Given the description of an element on the screen output the (x, y) to click on. 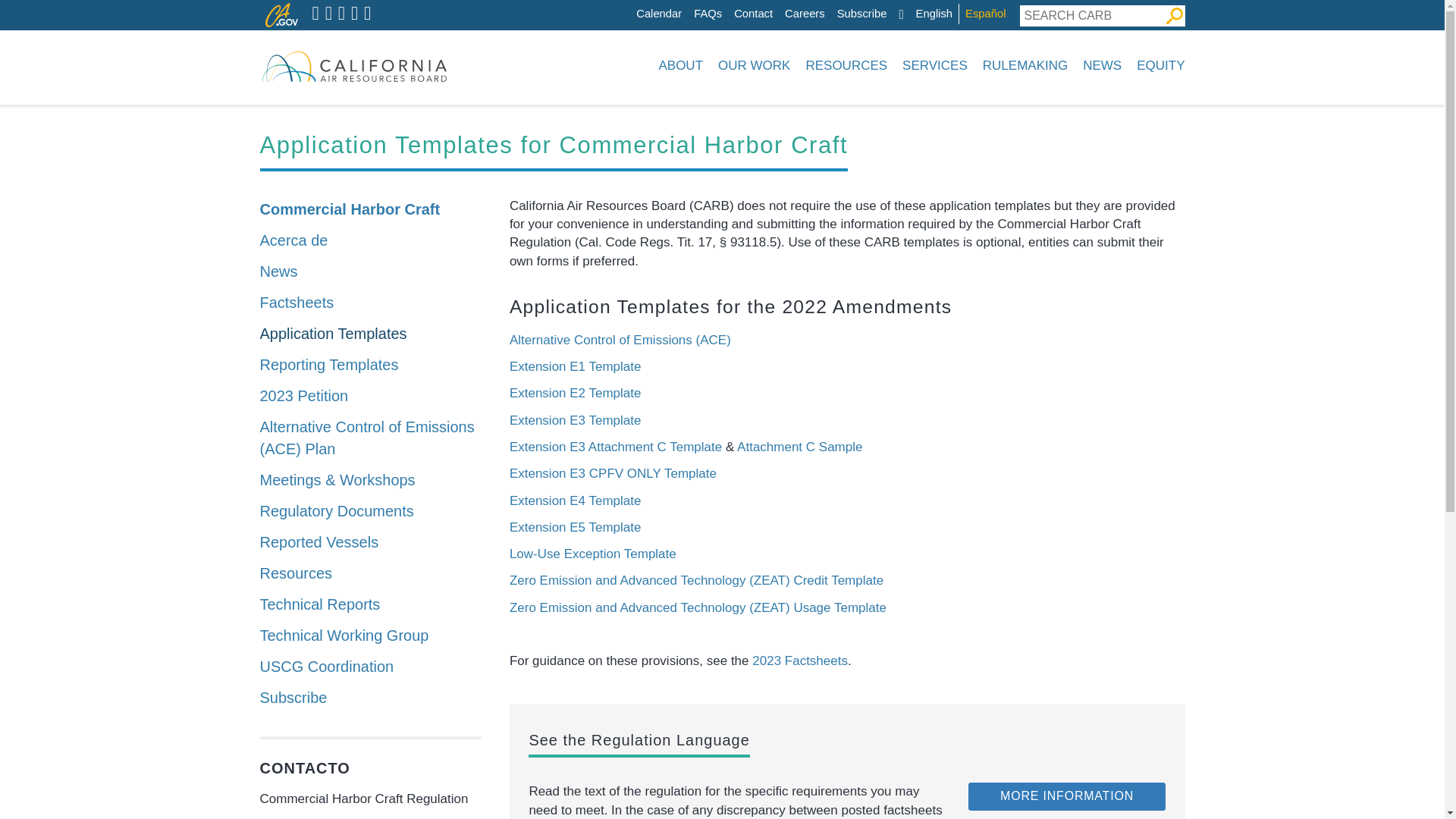
RULEMAKING (1025, 65)
Templates to provide guidance on application submissions. (370, 333)
Inicio (353, 65)
Contact (753, 14)
Calendar (658, 14)
Display Settings (900, 14)
SERVICES (935, 65)
Subscribe (861, 14)
NEWS (1102, 65)
EQUITY (1157, 65)
Pasar al contenido principal (639, 4)
TWITTER (315, 13)
Careers (804, 14)
OUR WORK (753, 65)
English (933, 14)
